Given the description of an element on the screen output the (x, y) to click on. 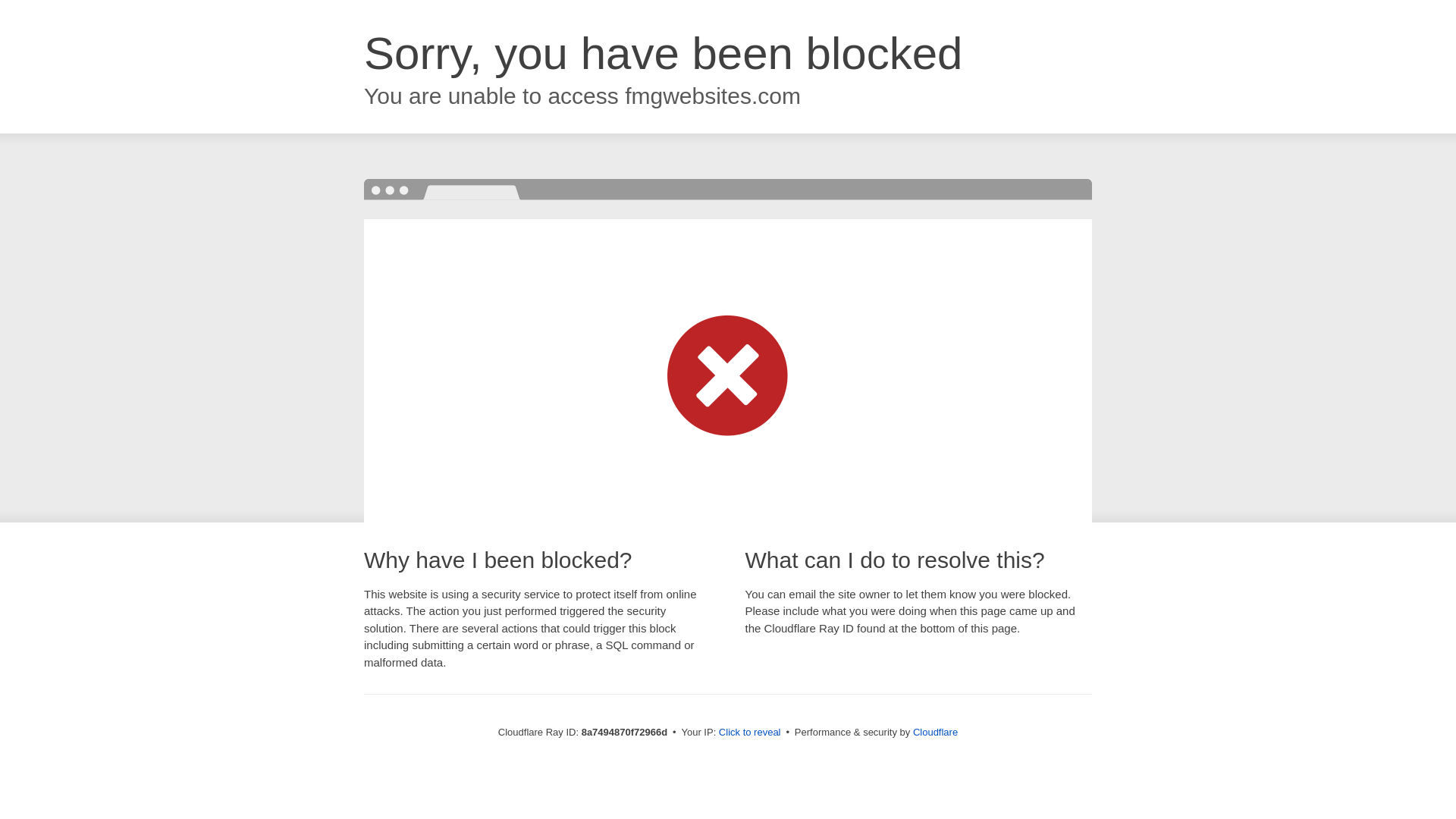
Cloudflare (935, 731)
Click to reveal (749, 732)
